Given the description of an element on the screen output the (x, y) to click on. 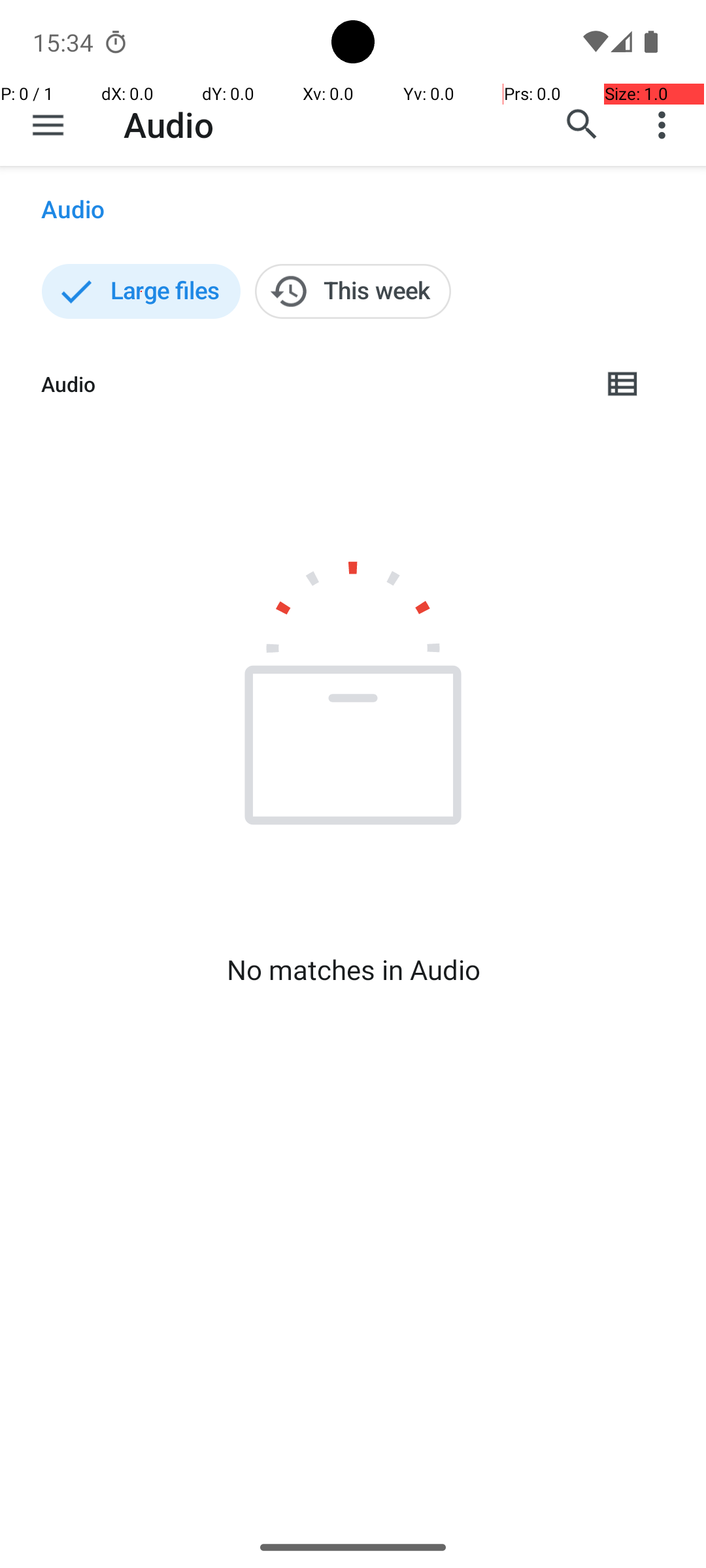
No matches in Audio Element type: android.widget.TextView (352, 968)
